Given the description of an element on the screen output the (x, y) to click on. 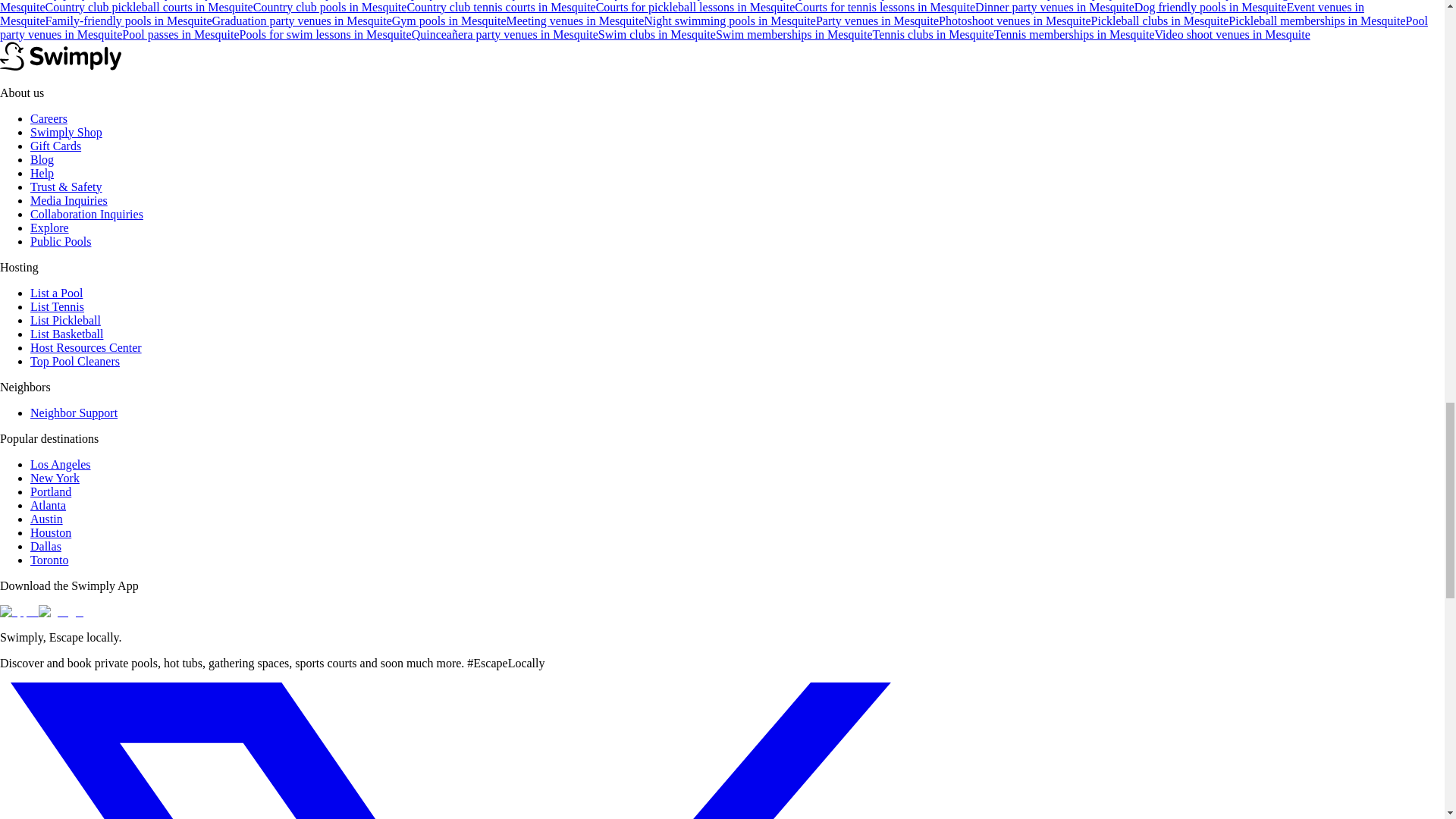
Gift Cards (55, 145)
Blog (41, 159)
Collaboration Inquiries (86, 214)
Host Resources Center (85, 347)
Public Pools (60, 241)
List Tennis (57, 306)
Help (41, 173)
Los Angeles (60, 463)
Explore (49, 227)
Swimply Shop (65, 132)
Media Inquiries (68, 200)
List Basketball (66, 333)
List a Pool (56, 292)
Careers (48, 118)
Top Pool Cleaners (74, 360)
